Given the description of an element on the screen output the (x, y) to click on. 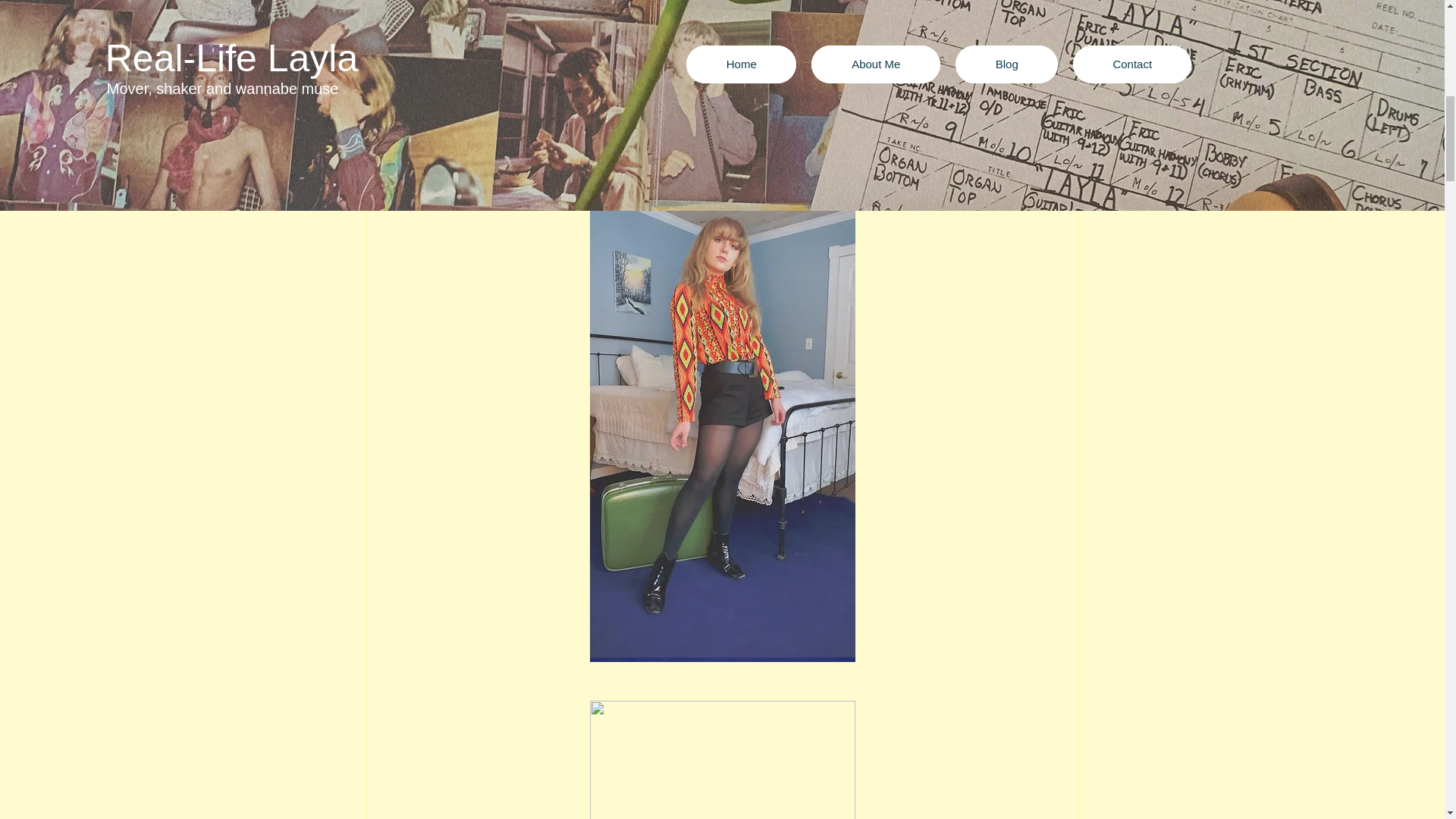
Moodysretro (857, 151)
